Given the description of an element on the screen output the (x, y) to click on. 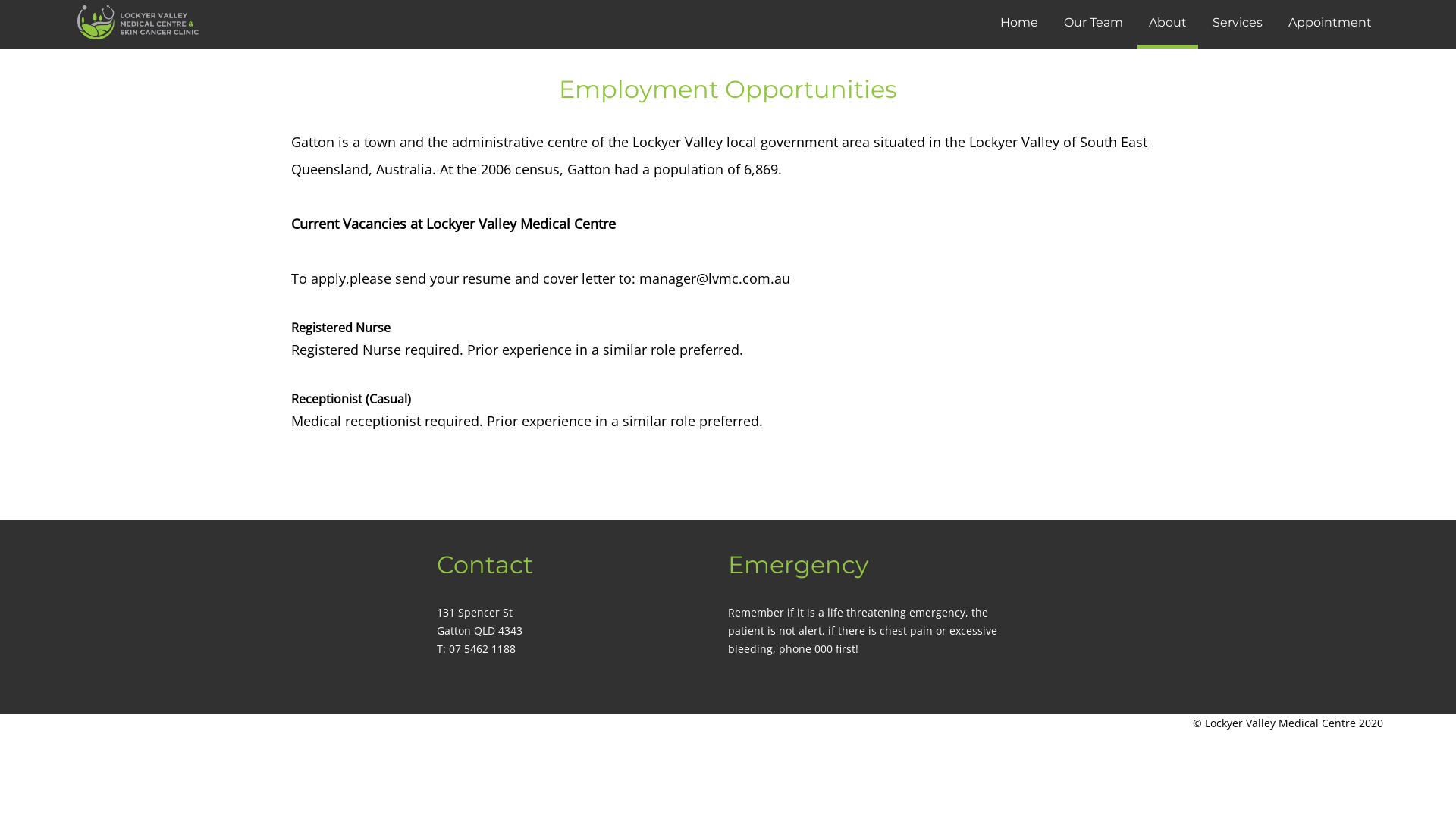
Appointment Element type: text (1330, 22)
Services Element type: text (1237, 22)
Home Element type: text (1018, 22)
About Element type: text (1167, 24)
Our Team Element type: text (1093, 22)
